Given the description of an element on the screen output the (x, y) to click on. 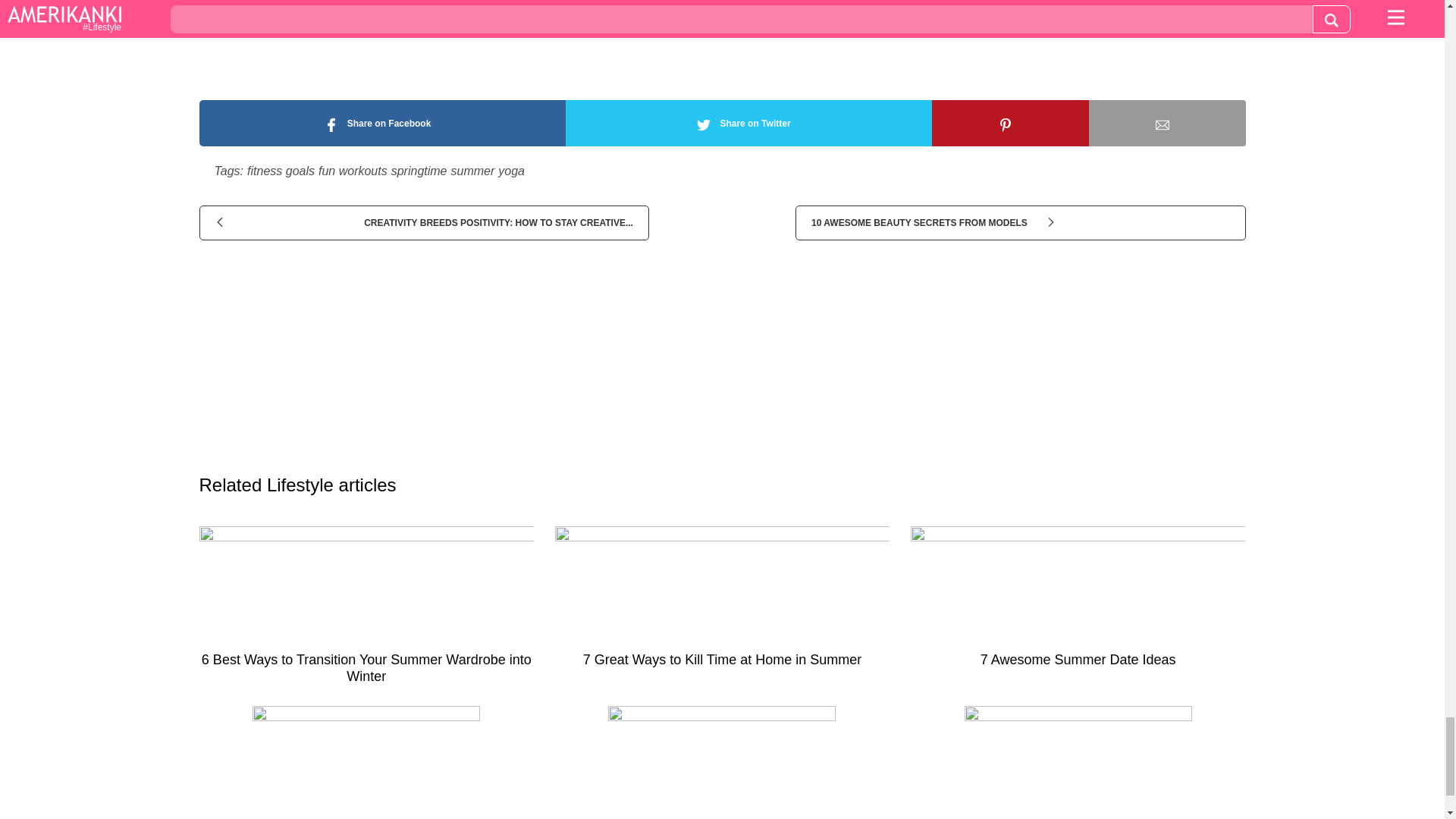
Share on Twitter (748, 122)
10 Awesome Beauty Secrets from Models (1019, 222)
Share on Facebook (381, 122)
